Given the description of an element on the screen output the (x, y) to click on. 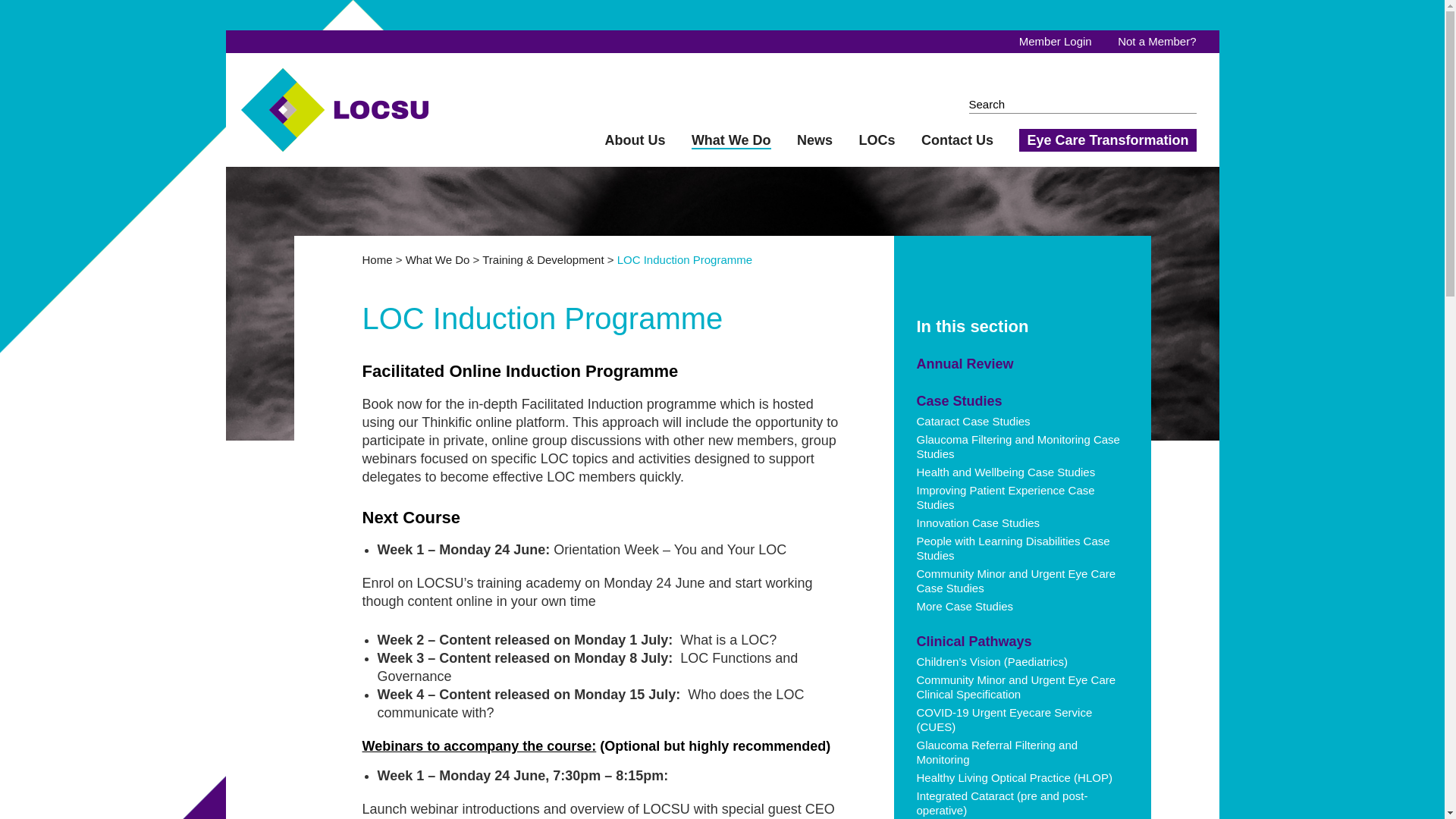
Member Login (1055, 41)
What We Do (731, 140)
About Us (634, 140)
Not a Member? (1156, 41)
